Given the description of an element on the screen output the (x, y) to click on. 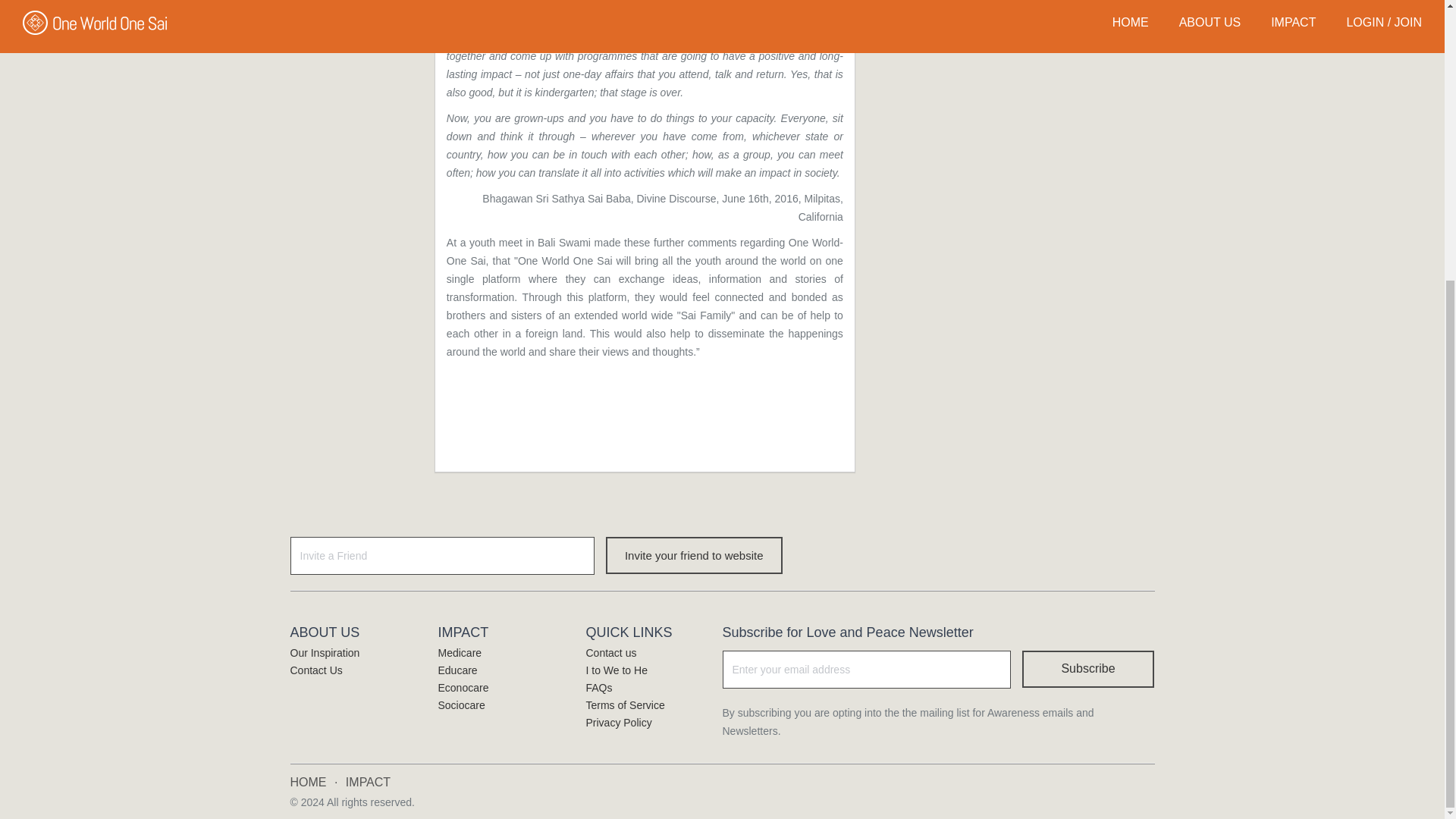
Contact Us (315, 670)
Terms of Service (624, 705)
Contact us (610, 653)
HOME (309, 781)
Our Inspiration (324, 653)
FAQs (598, 687)
Medicare (459, 653)
Privacy Policy (617, 722)
Sociocare (461, 705)
IMPACT (368, 781)
I to We to He (615, 670)
Subscribe (1088, 668)
Invite your friend to website (694, 555)
Econocare (463, 687)
Educare (457, 670)
